Given the description of an element on the screen output the (x, y) to click on. 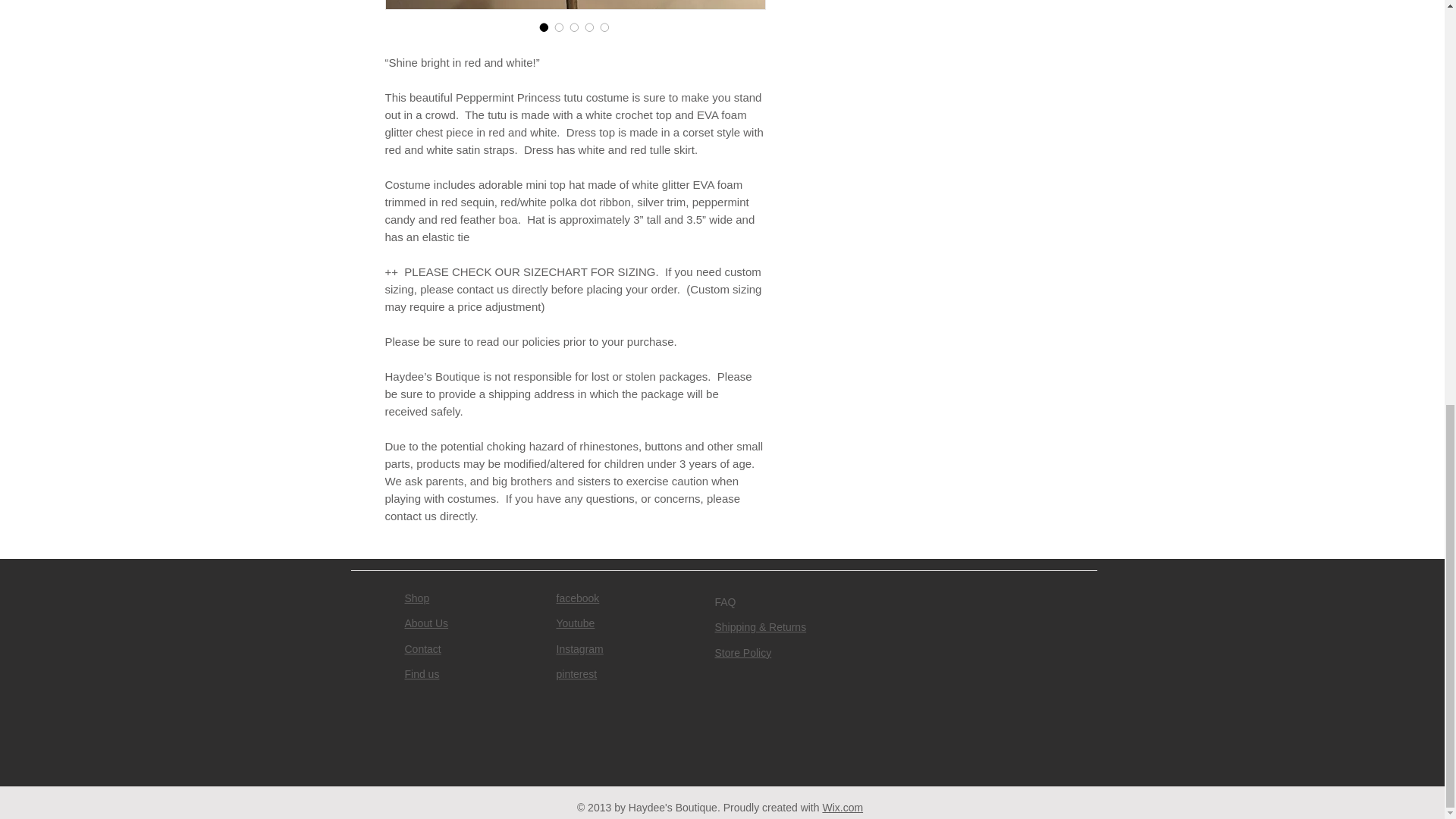
Shop (416, 598)
pinterest (576, 674)
About Us (426, 623)
Find us (421, 674)
Store Policy (742, 653)
Instagram (580, 648)
Contact (422, 648)
FAQ (724, 602)
Youtube (575, 623)
Wix.com (842, 807)
facebook (577, 598)
